Given the description of an element on the screen output the (x, y) to click on. 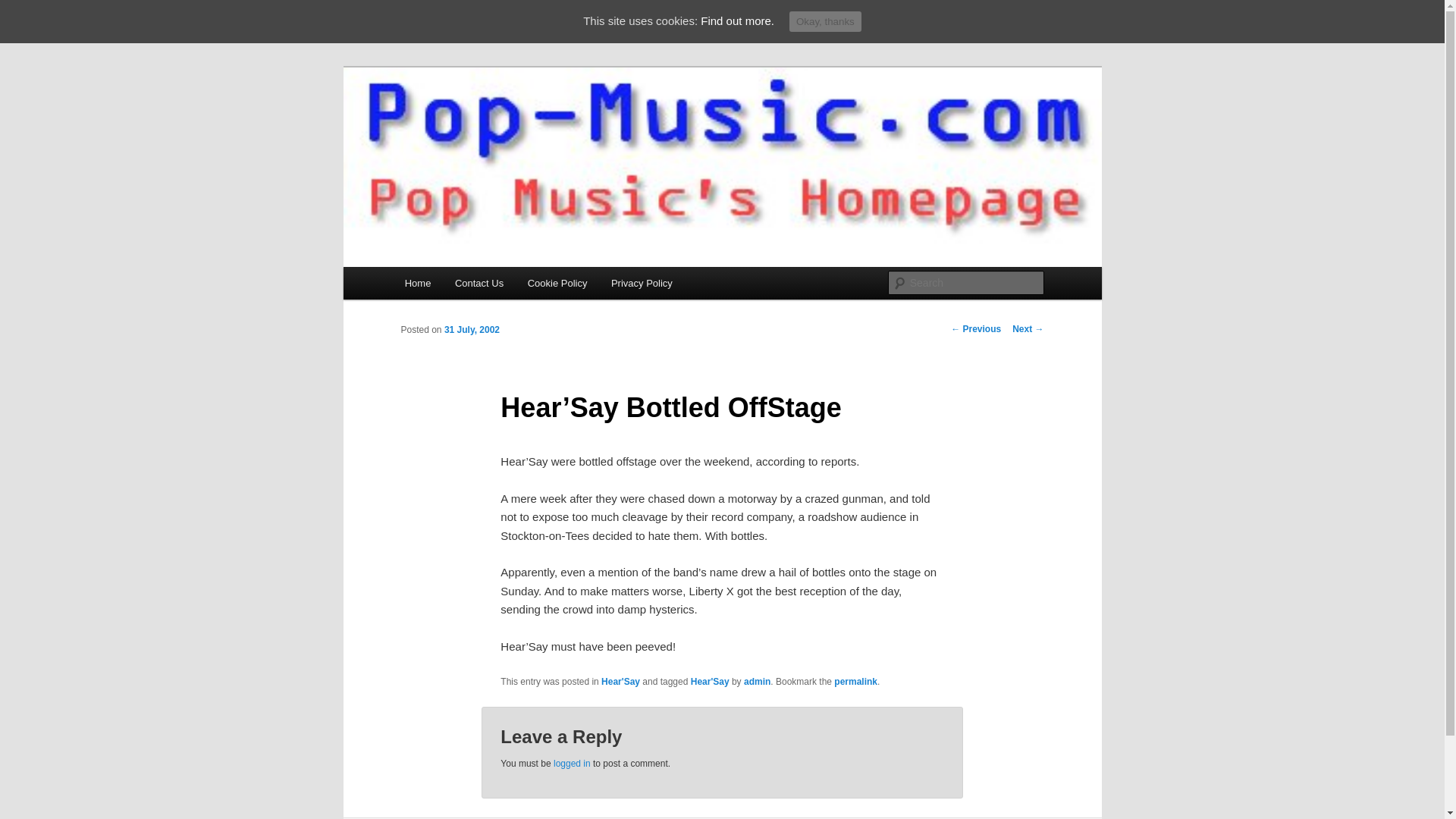
Okay, thanks (825, 21)
permalink (855, 681)
Privacy Policy (641, 282)
logged in (572, 763)
Pop-Music.com (484, 122)
31 July, 2002 (471, 329)
Contact Us (478, 282)
4:01 am (471, 329)
Hear'Say (620, 681)
